Given the description of an element on the screen output the (x, y) to click on. 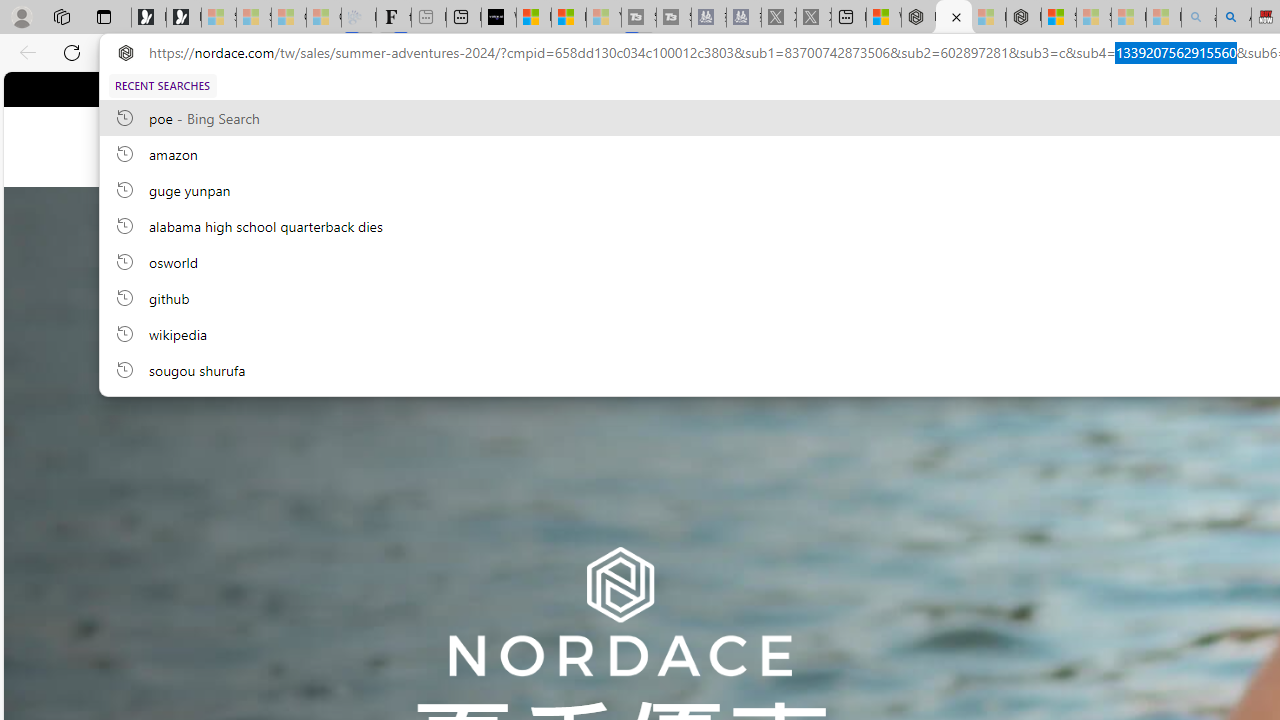
Follow on Twitter (615, 88)
Back (24, 52)
Follow on Pinterest (634, 88)
Tab actions menu (104, 16)
amazon - Search - Sleeping (1198, 17)
View site information (125, 53)
Nordace (659, 147)
